Given the description of an element on the screen output the (x, y) to click on. 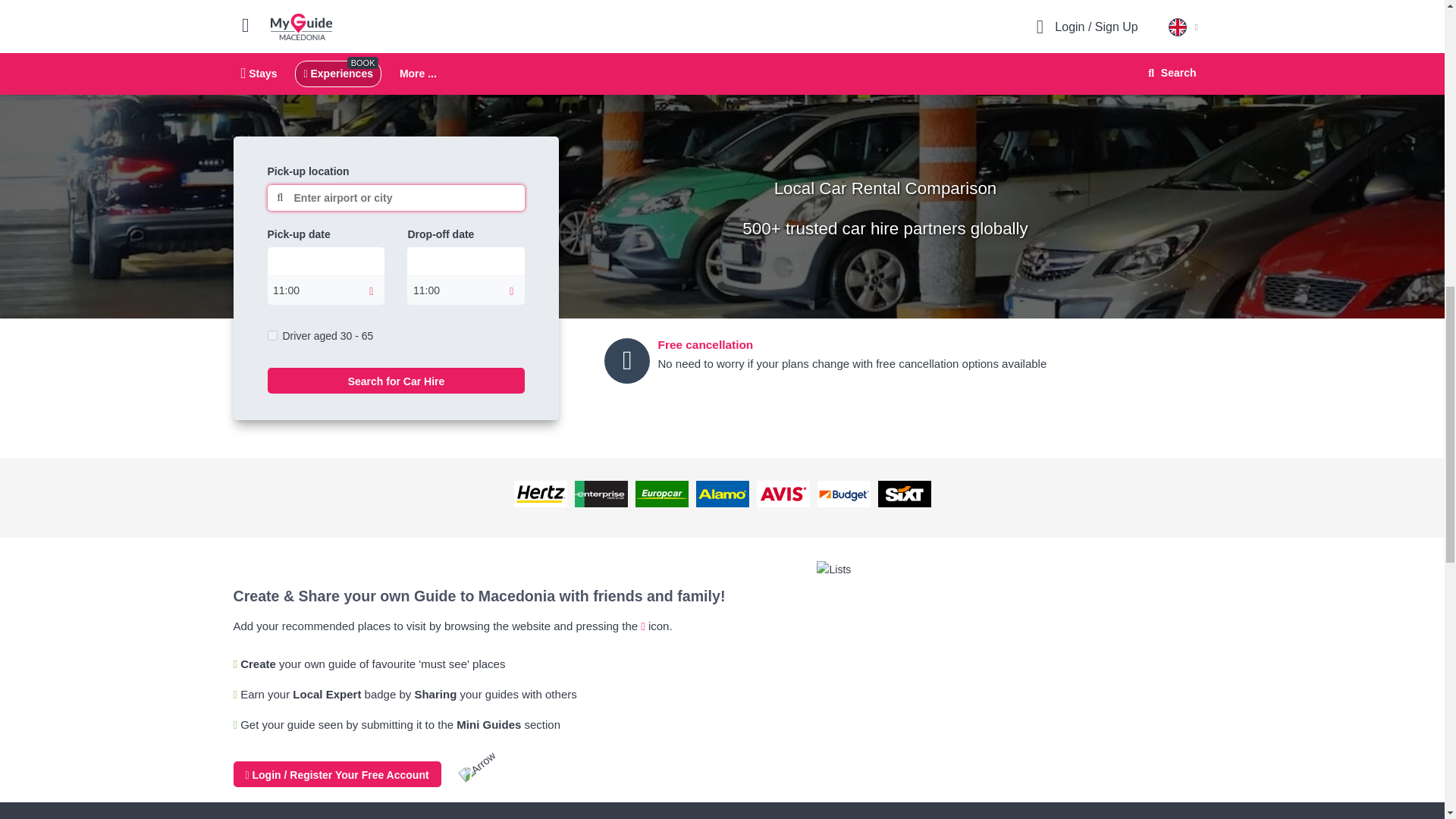
on (271, 335)
